Given the description of an element on the screen output the (x, y) to click on. 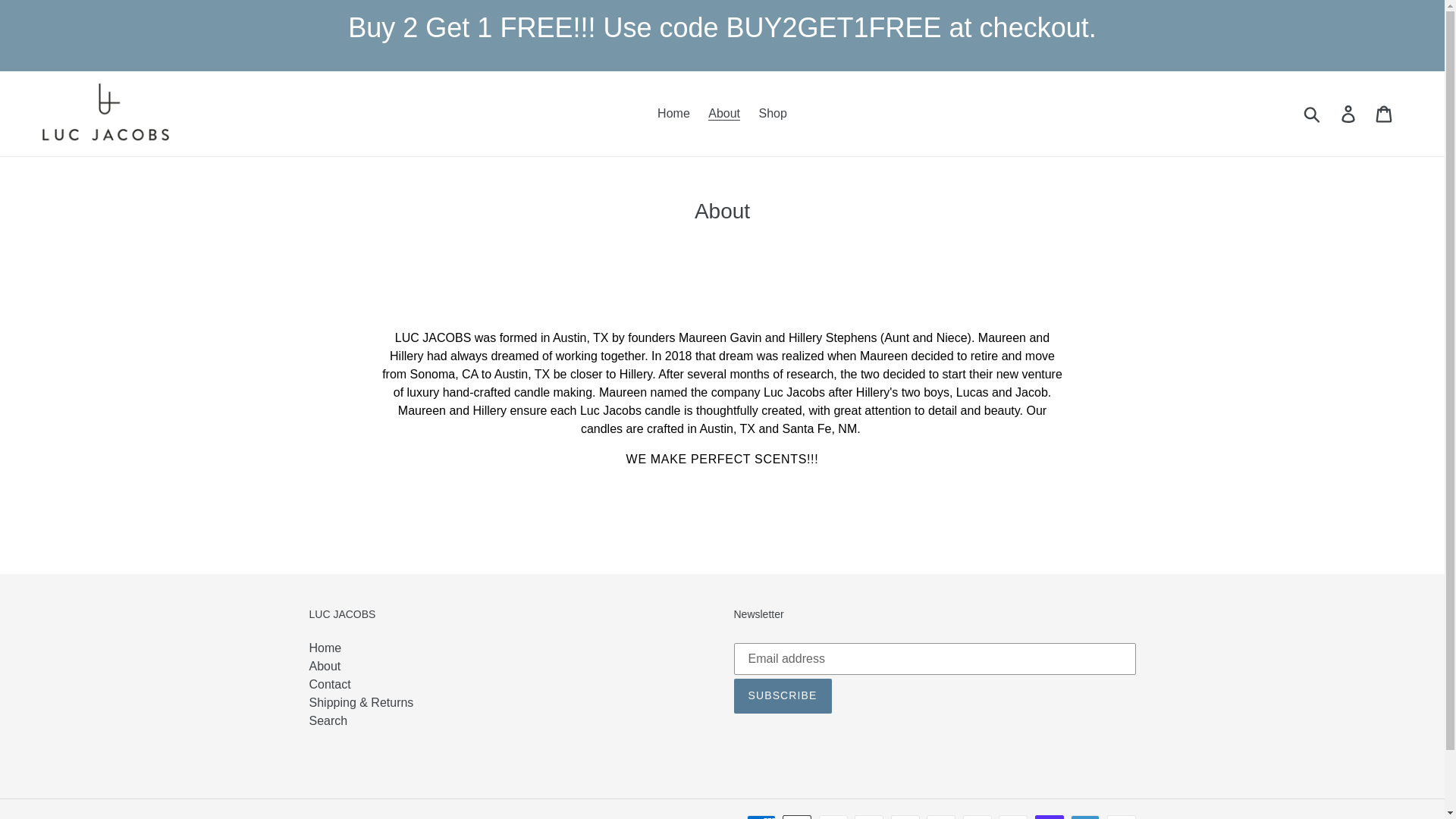
Log in (1349, 113)
About (324, 666)
Home (325, 647)
Luc Jacobs (371, 818)
Submit (1313, 113)
Cart (1385, 113)
Contact (329, 684)
Home (673, 113)
SUBSCRIBE (782, 695)
Search (327, 720)
